Given the description of an element on the screen output the (x, y) to click on. 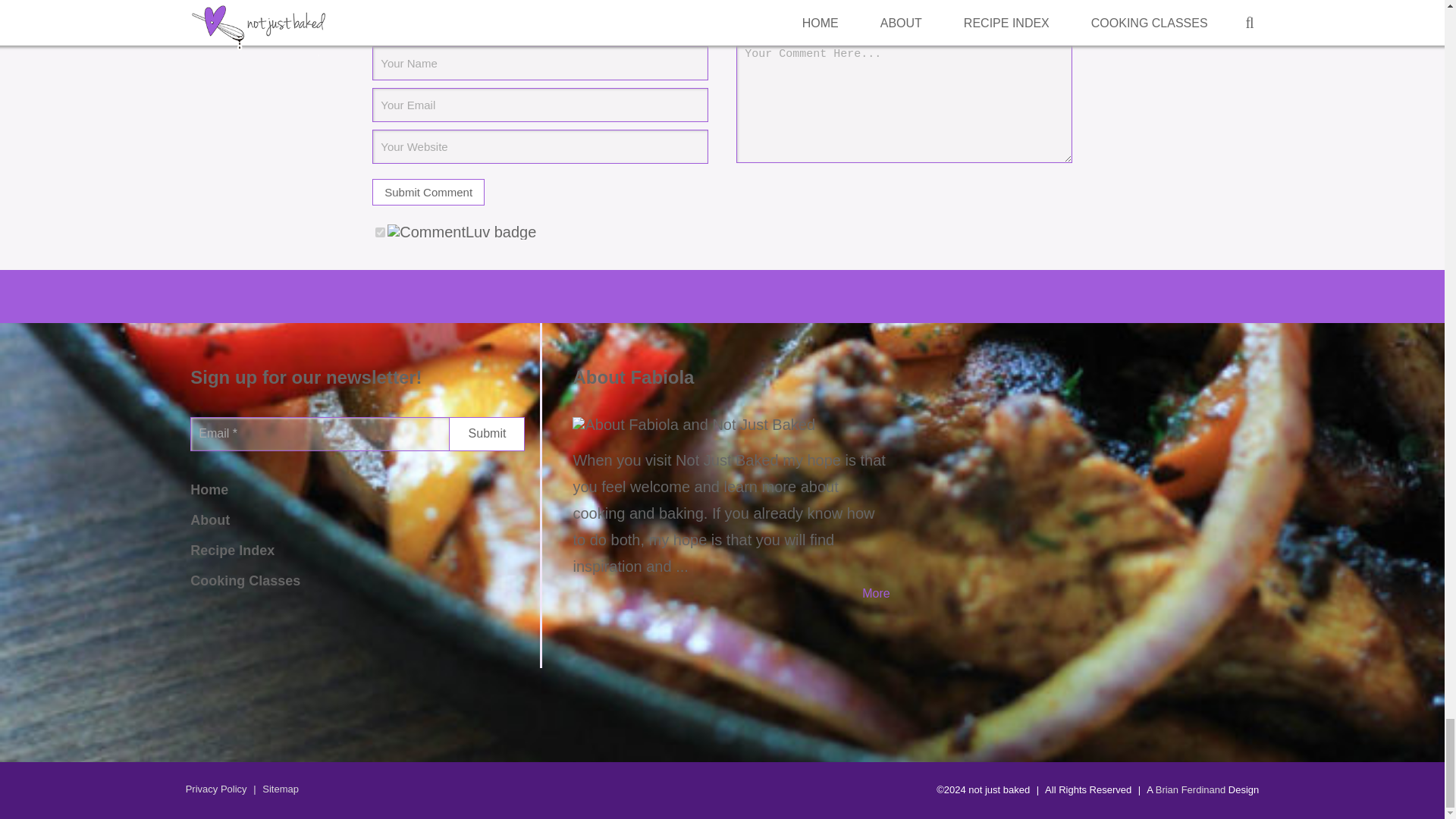
on (380, 232)
Submit (486, 433)
Submit Comment (428, 192)
Web Design and Web Development by Brian Ferdinand Designs (1190, 789)
